Given the description of an element on the screen output the (x, y) to click on. 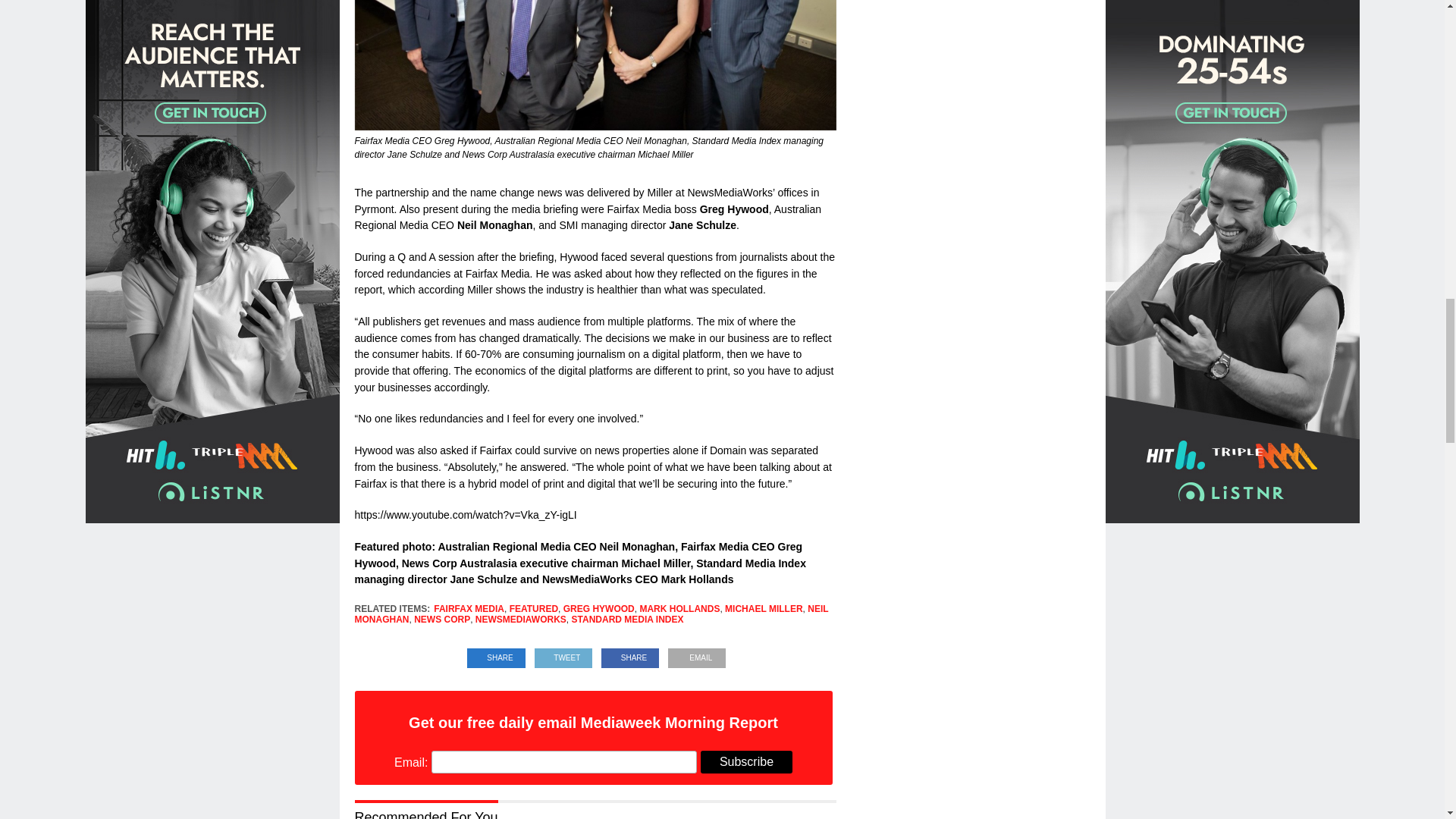
Subscribe (746, 762)
Share on Facebook (630, 653)
Tweet This Post (563, 653)
Share on LinkedIn (496, 653)
